Given the description of an element on the screen output the (x, y) to click on. 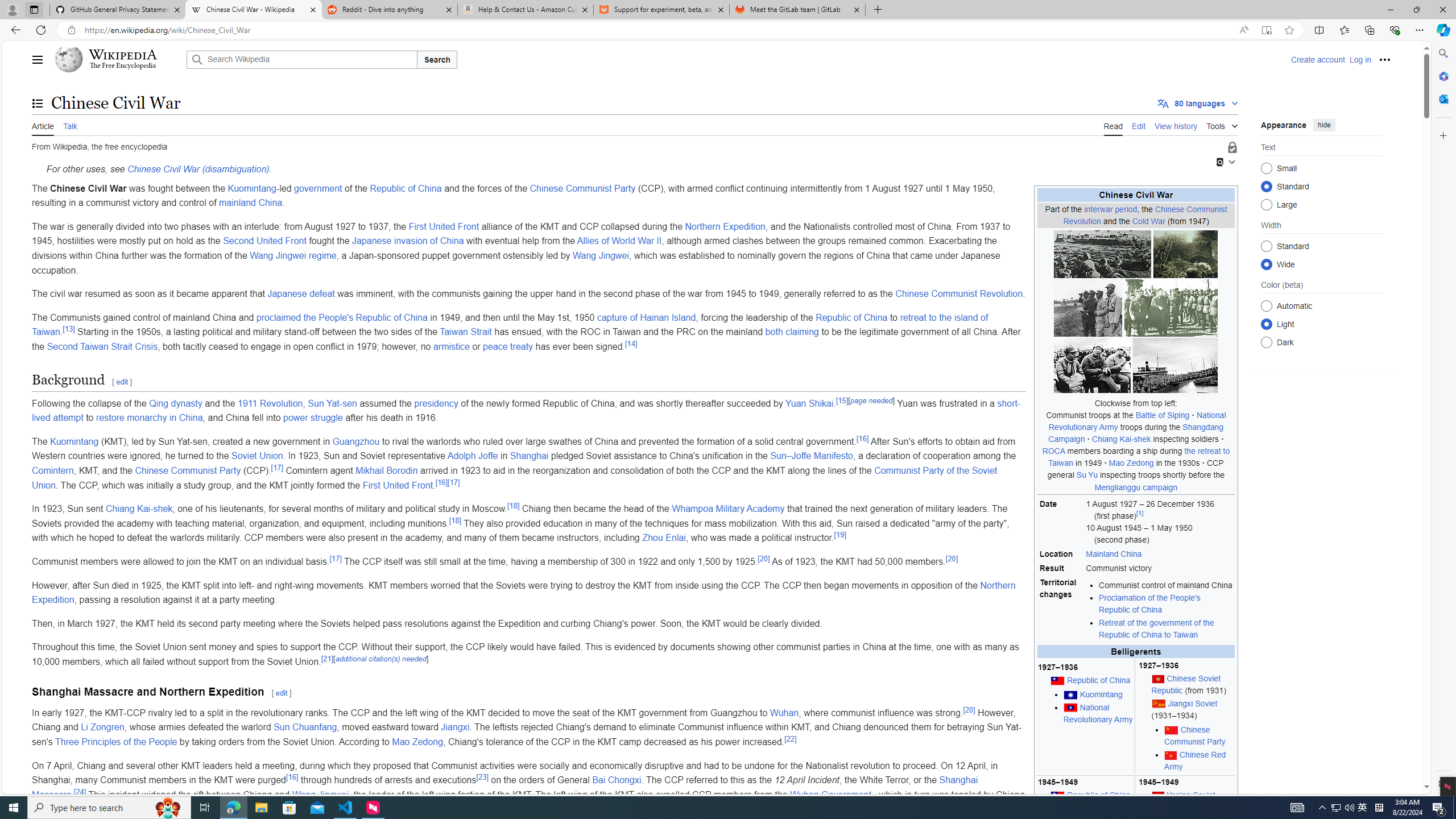
Qing dynasty (175, 403)
Three Principles of the People (116, 741)
Shanghai Massacre (505, 787)
First United Front (397, 484)
Kuomintang (74, 441)
the retreat to Taiwan (1139, 457)
Class: mw-file-description (1175, 365)
Page protected with pending changes (1232, 147)
Mikhail Borodin (386, 470)
